Given the description of an element on the screen output the (x, y) to click on. 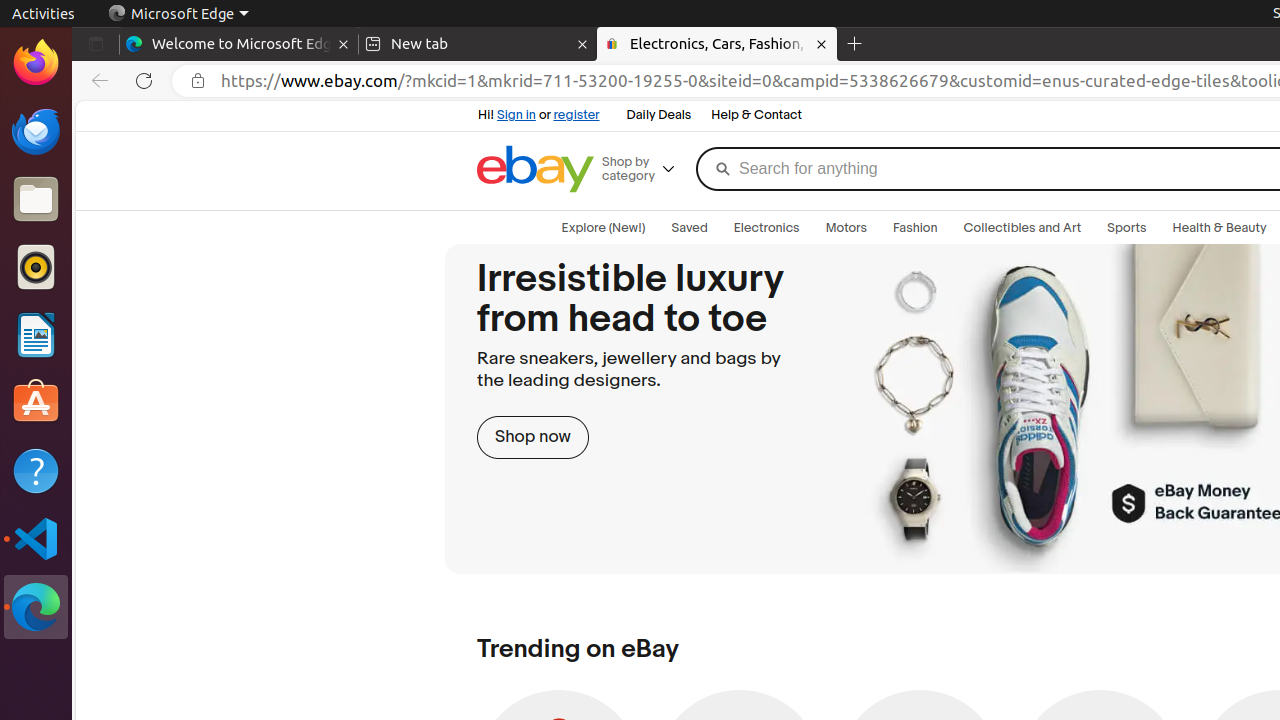
Help & Contact Element type: link (756, 115)
Electronics Element type: link (766, 228)
Tab actions menu Element type: push-button (96, 44)
Microsoft Edge Element type: push-button (36, 607)
View site information Element type: push-button (198, 81)
